Given the description of an element on the screen output the (x, y) to click on. 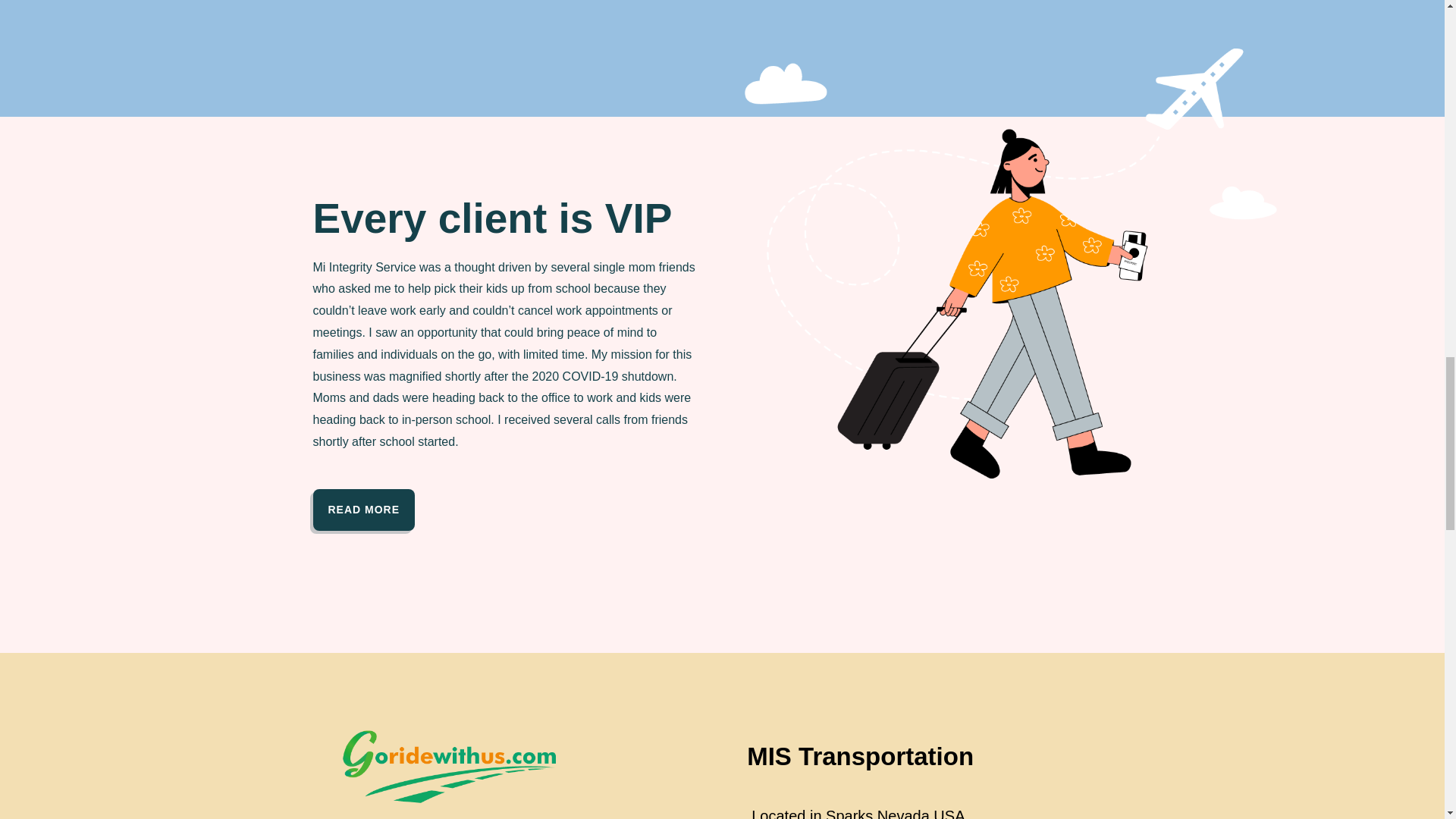
READ MORE (363, 509)
GO-RIDE-WITH-US-LOGO (445, 763)
